Given the description of an element on the screen output the (x, y) to click on. 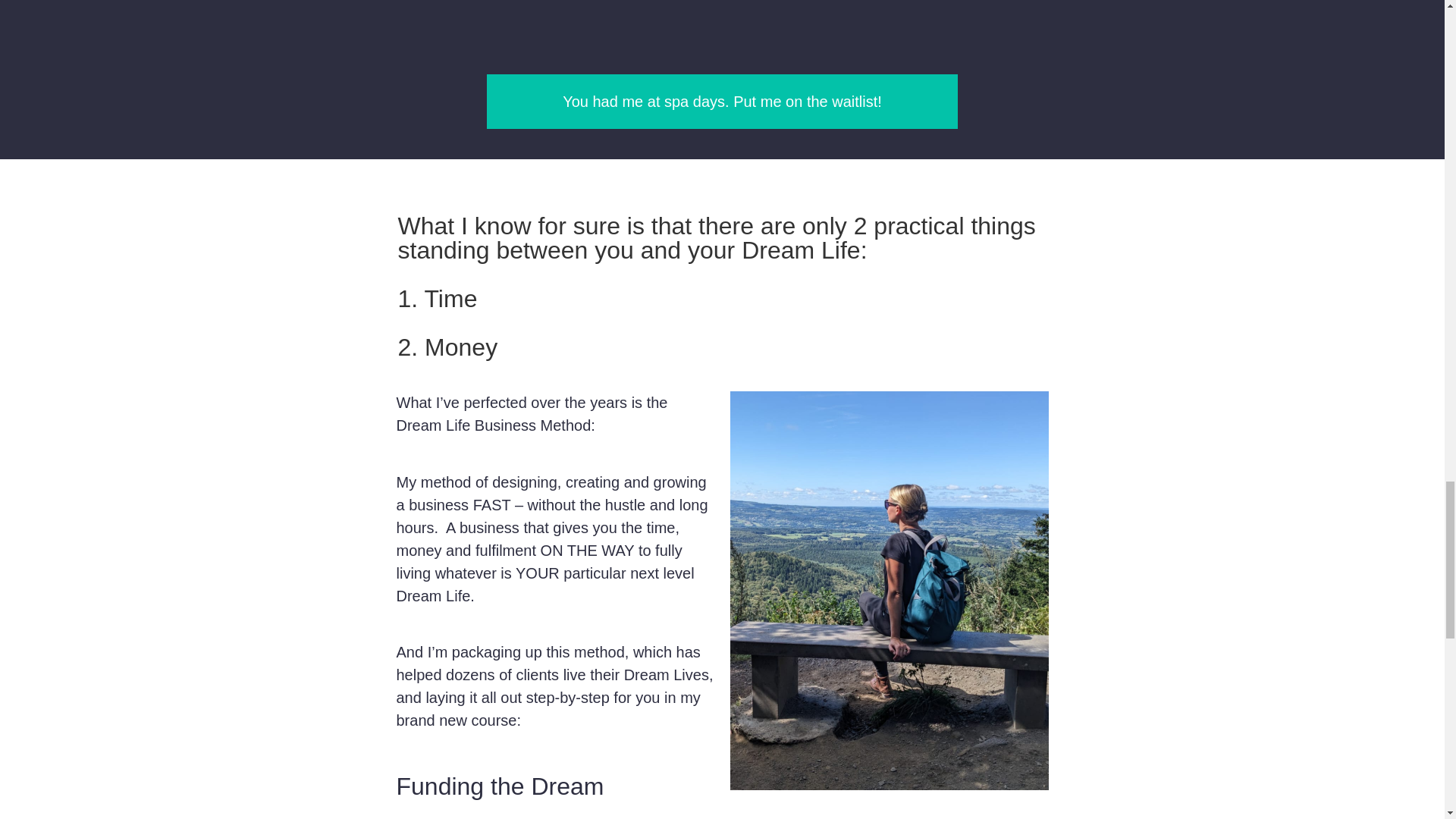
You had me at spa days. Put me on the waitlist! (722, 101)
